Given the description of an element on the screen output the (x, y) to click on. 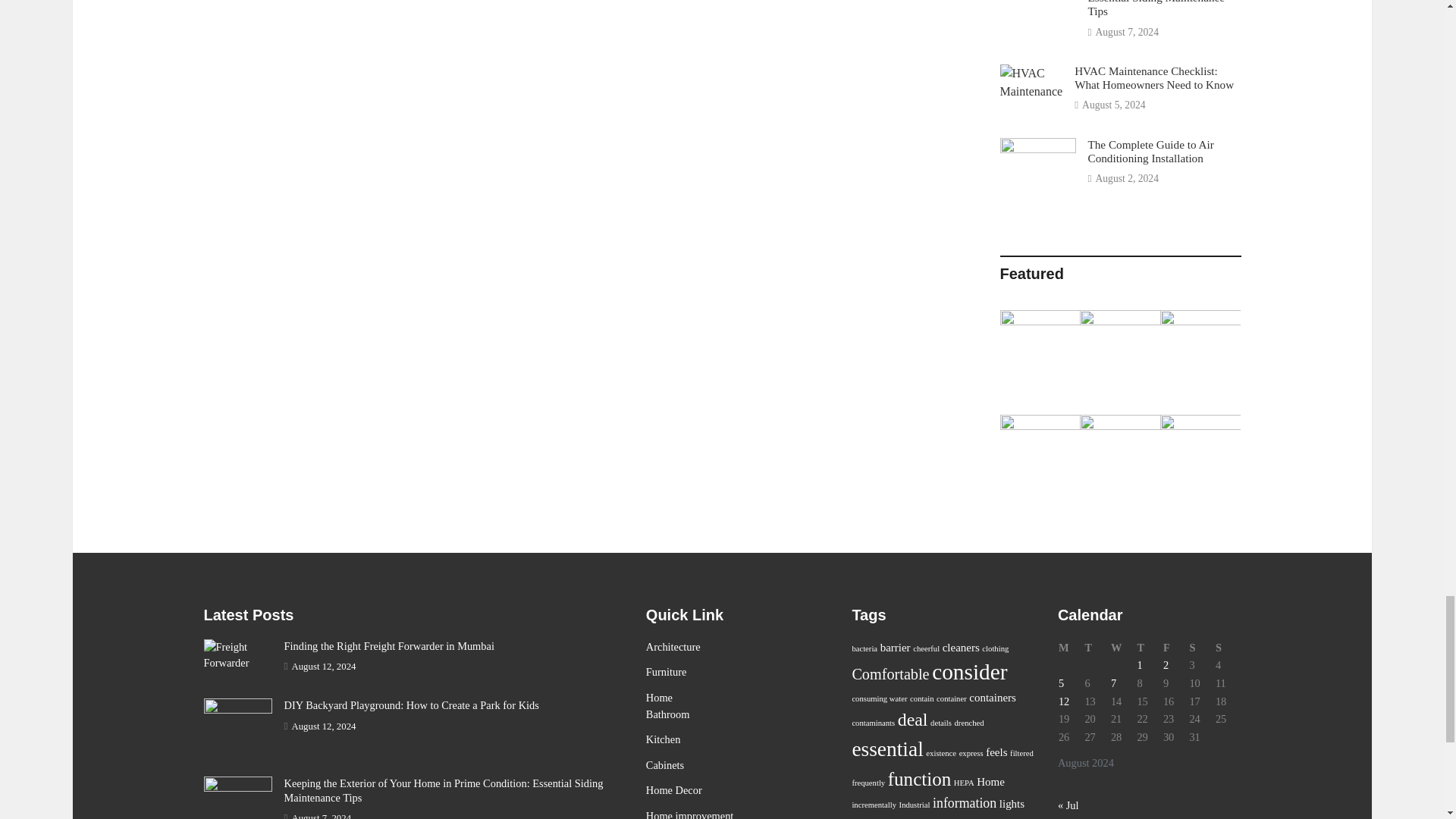
Tuesday (1096, 648)
Saturday (1201, 648)
Friday (1175, 648)
Monday (1071, 648)
Sunday (1227, 648)
Thursday (1148, 648)
Wednesday (1123, 648)
